Given the description of an element on the screen output the (x, y) to click on. 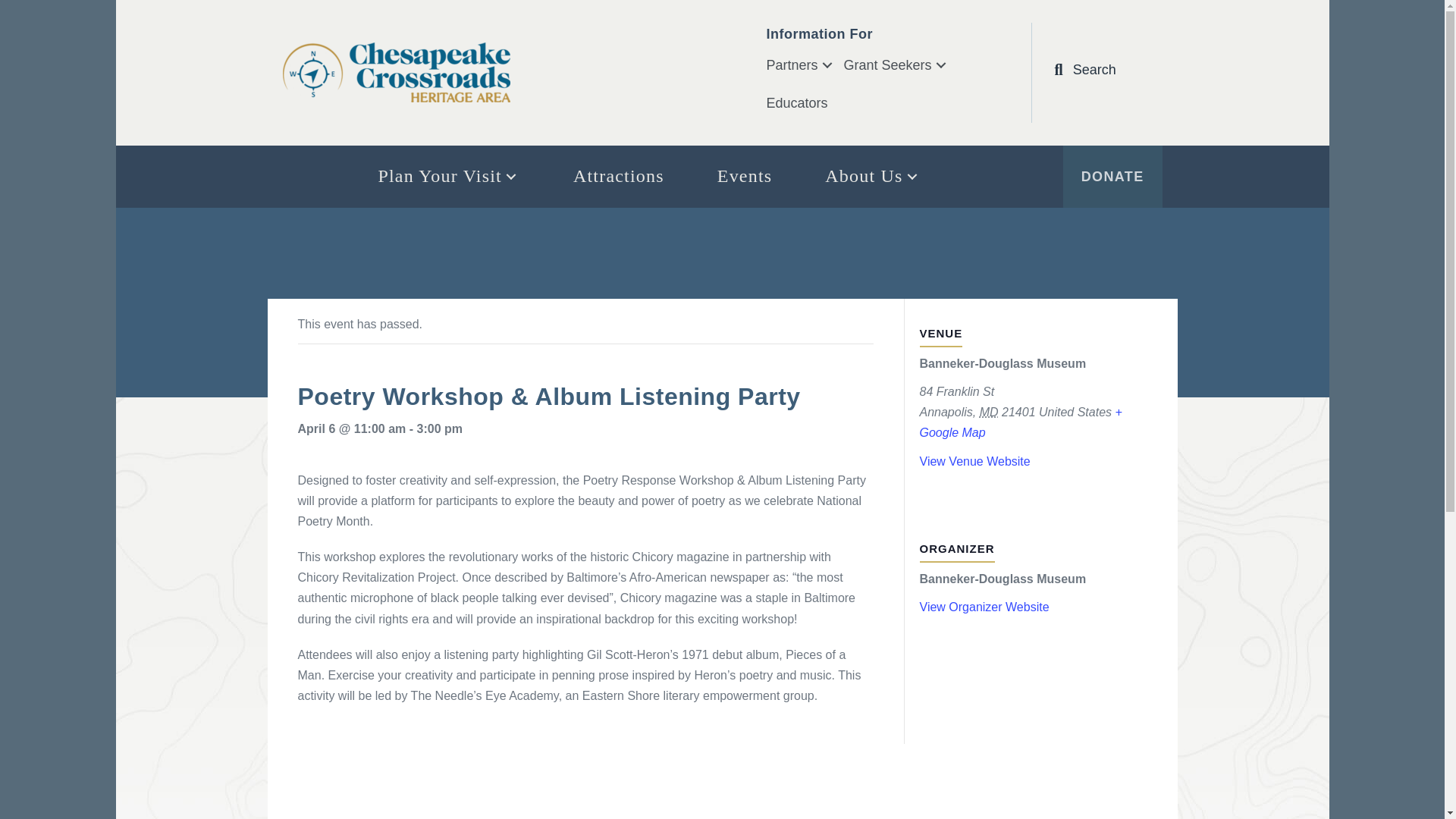
Search (1084, 69)
Partners (804, 65)
About Us (872, 176)
Attractions (618, 176)
Events (745, 176)
Plan Your Visit (448, 176)
DONATE (1111, 176)
Click to view a Google Map (1019, 421)
Educators (799, 103)
